Given the description of an element on the screen output the (x, y) to click on. 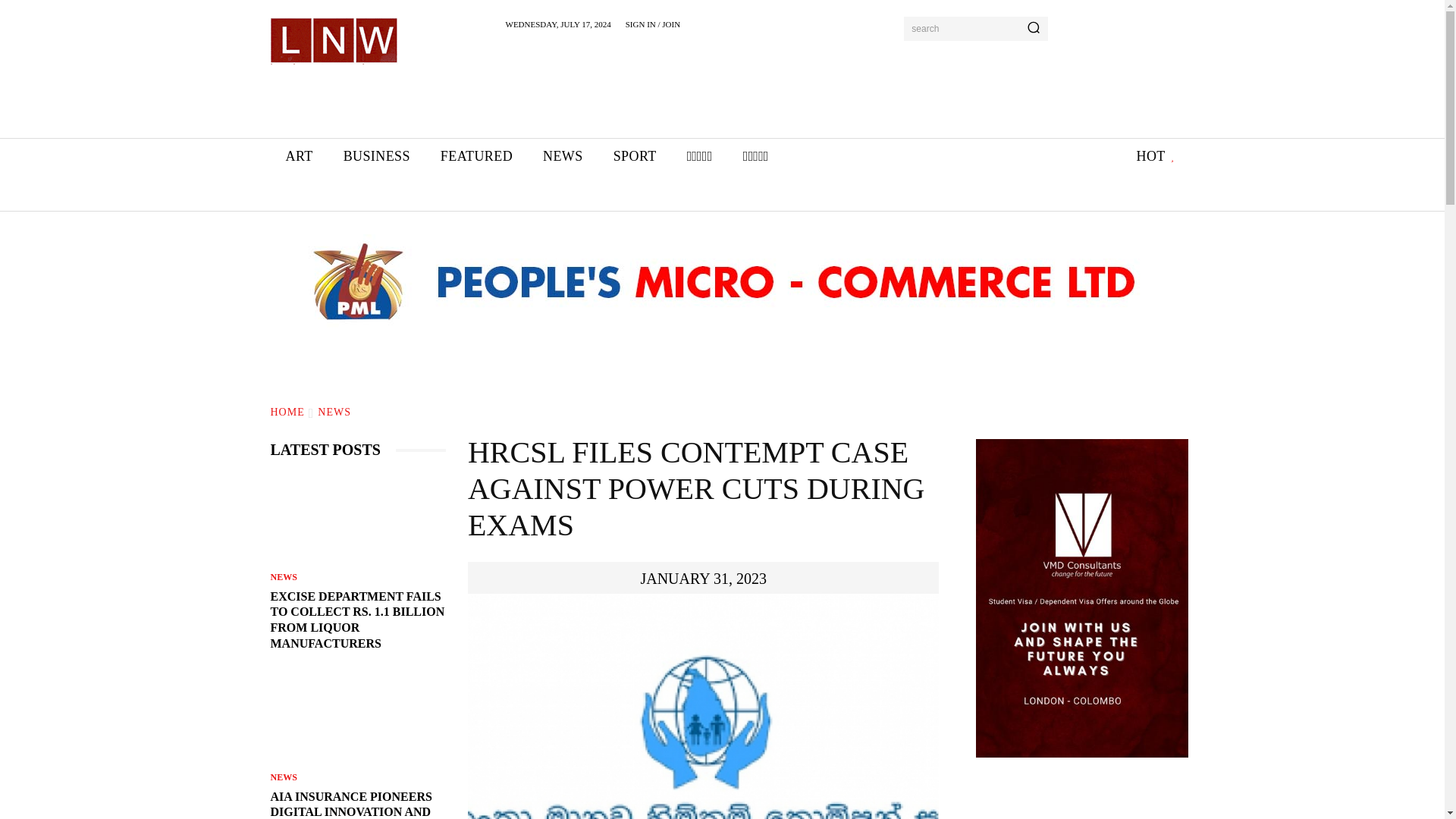
HOT (1155, 156)
ART (298, 156)
Advertisement (721, 367)
NEWS (562, 156)
BUSINESS (377, 156)
SPORT (634, 156)
Advertisement (781, 80)
FEATURED (476, 156)
